Given the description of an element on the screen output the (x, y) to click on. 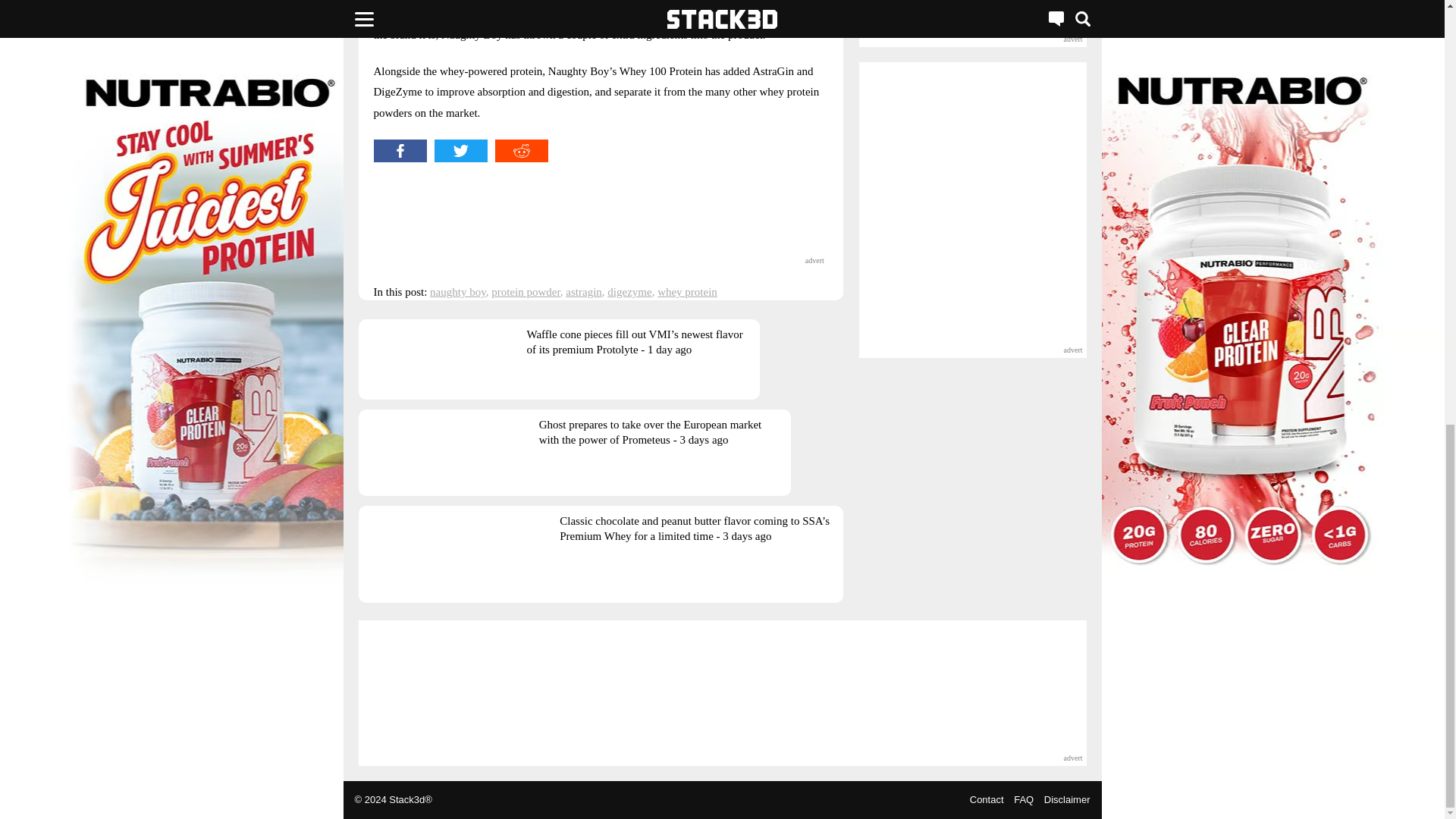
astragin (583, 291)
naughty boy (457, 291)
protein powder (526, 291)
